Given the description of an element on the screen output the (x, y) to click on. 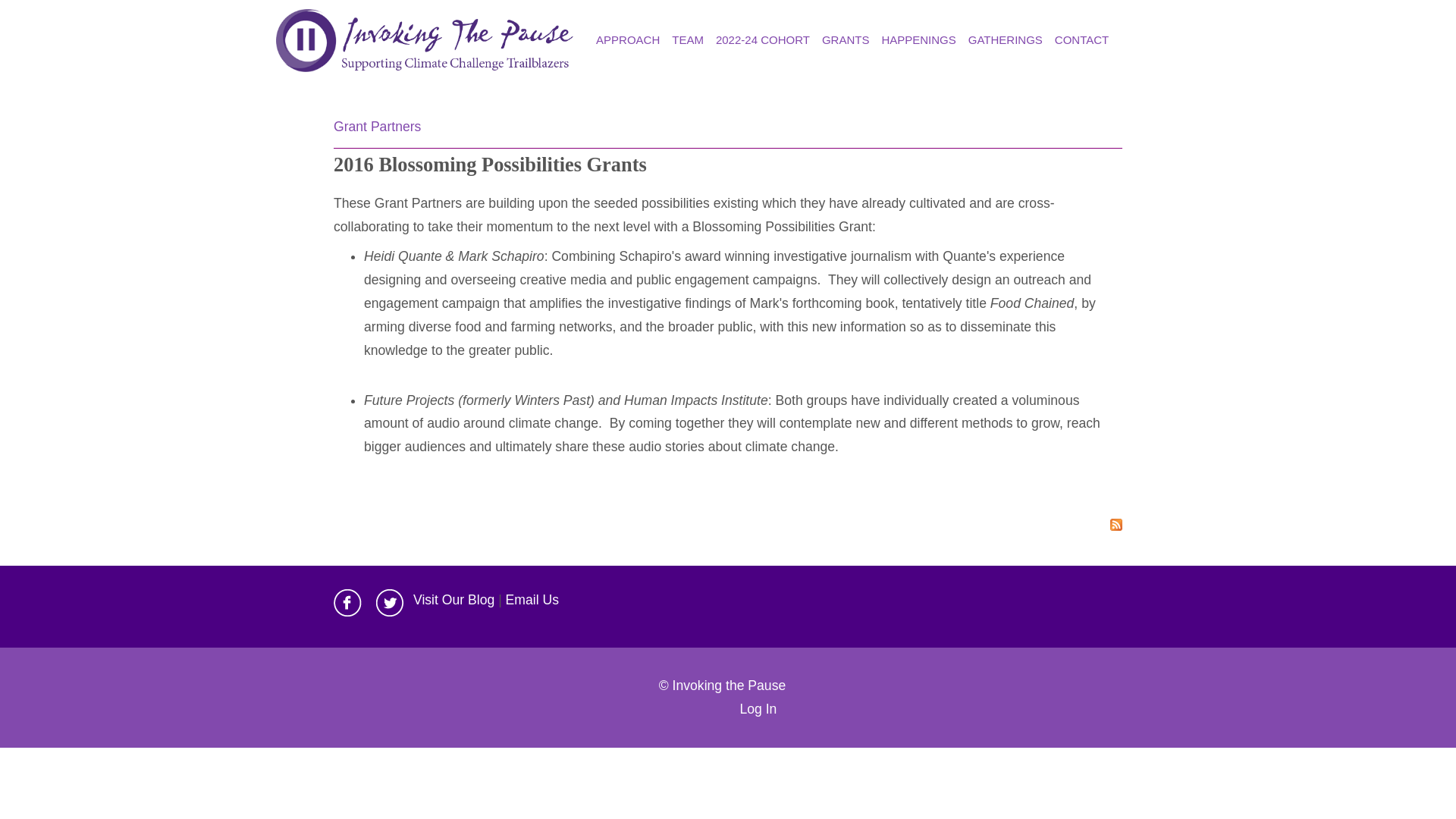
APPROACH (627, 39)
TEAM (687, 39)
Back to Grant Partners (376, 126)
GATHERINGS (1005, 39)
2022-24 COHORT (762, 39)
HAPPENINGS (917, 39)
GRANTS (845, 39)
